Given the description of an element on the screen output the (x, y) to click on. 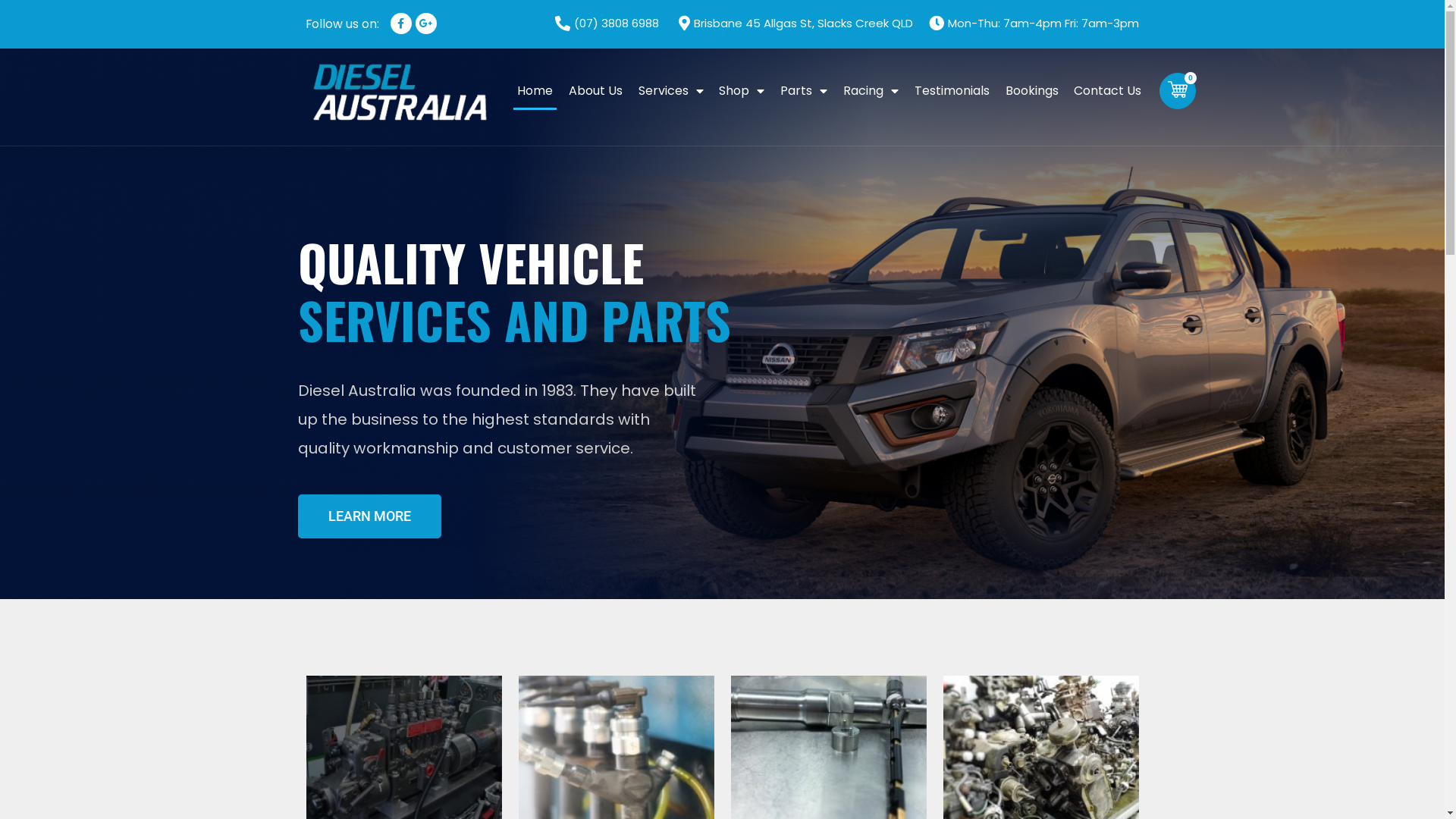
Home Element type: text (535, 90)
Racing Element type: text (871, 90)
Testimonials Element type: text (951, 90)
0 Element type: text (1177, 90)
Services Element type: text (670, 90)
Contact Us Element type: text (1107, 90)
Shop Element type: text (741, 90)
Parts Element type: text (803, 90)
About Us Element type: text (595, 90)
LEARN MORE Element type: text (368, 516)
Bookings Element type: text (1031, 90)
